Given the description of an element on the screen output the (x, y) to click on. 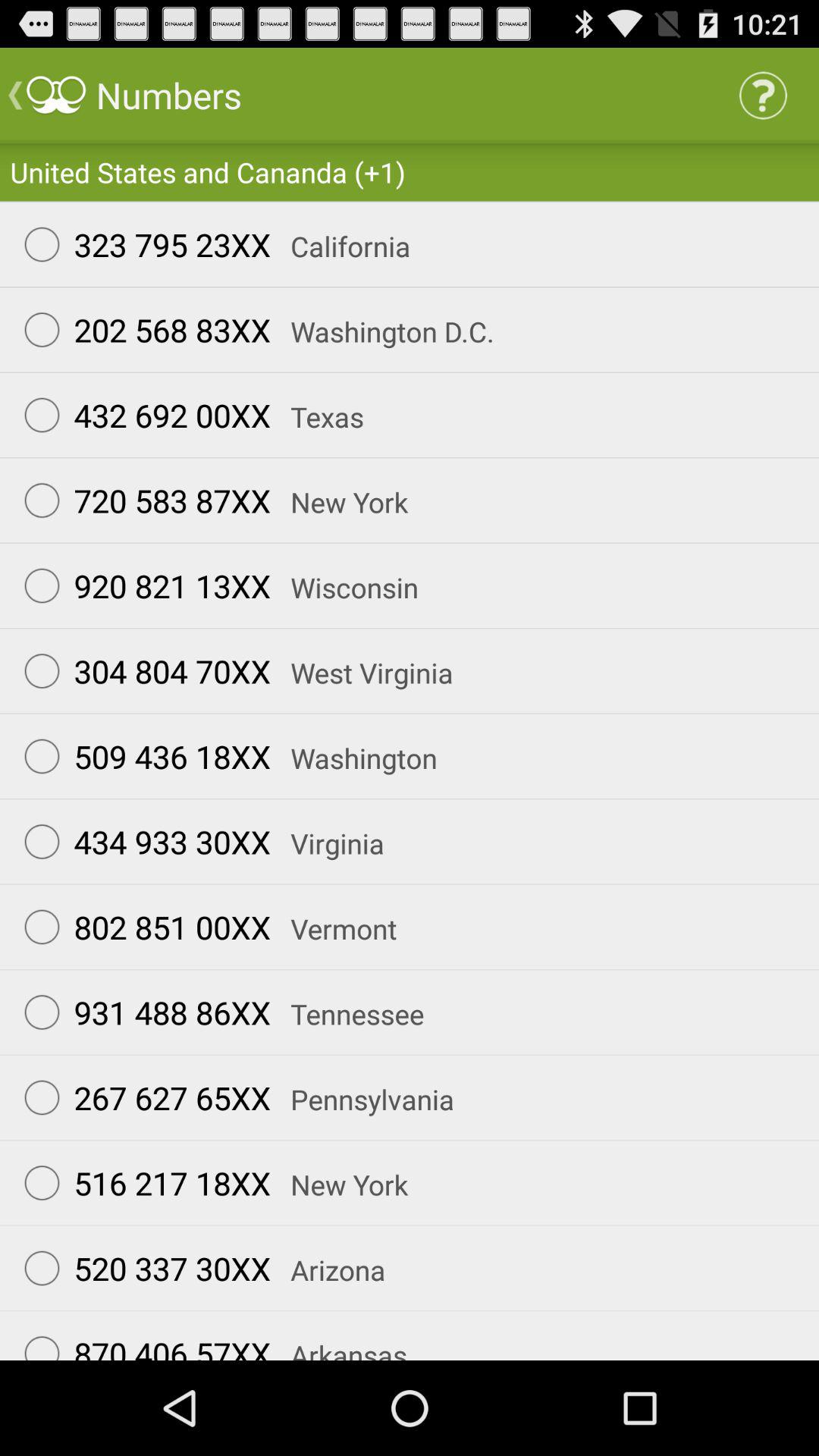
click the app next to the arizona app (140, 1268)
